Given the description of an element on the screen output the (x, y) to click on. 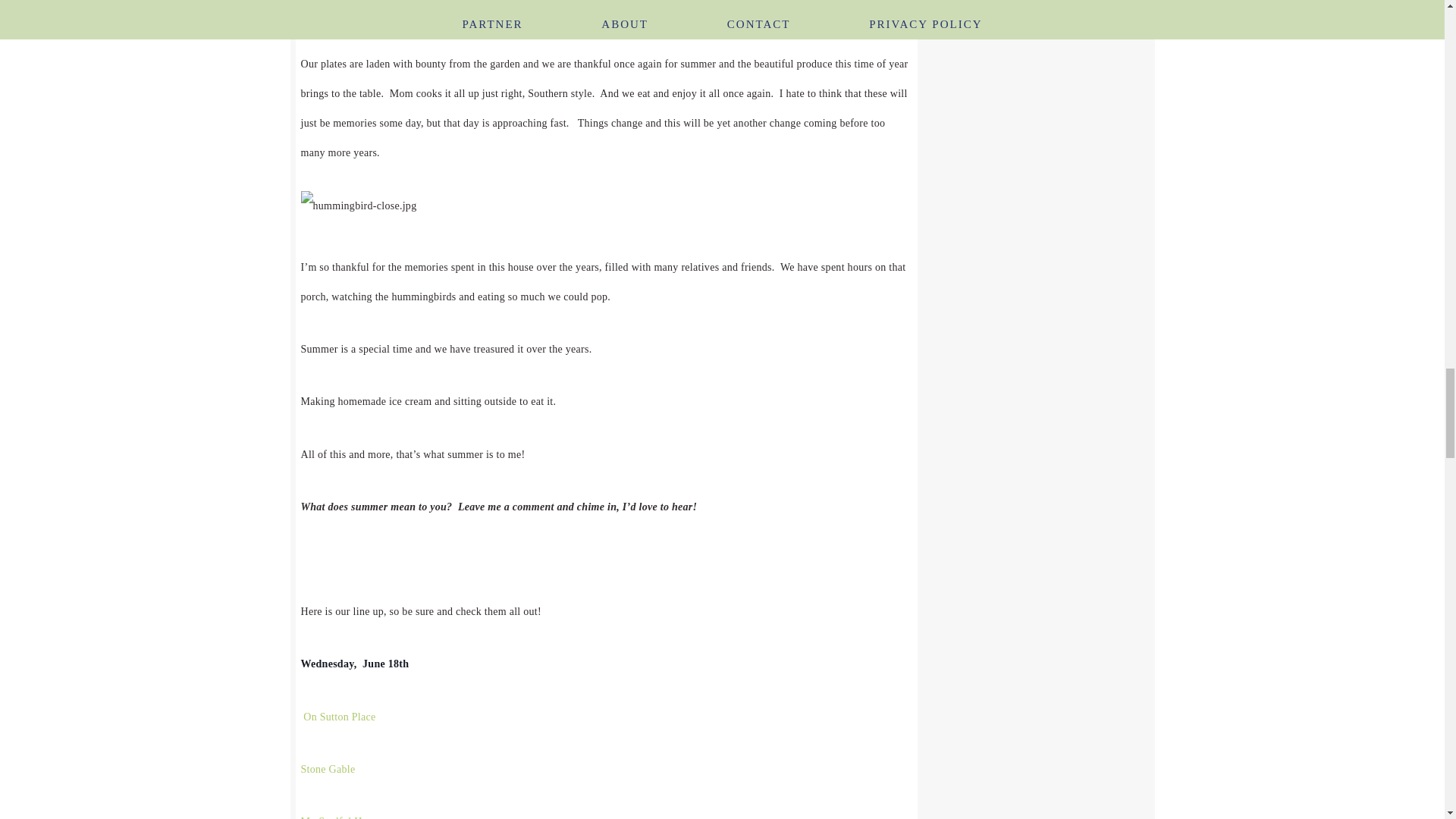
plate of food (334, 5)
